Given the description of an element on the screen output the (x, y) to click on. 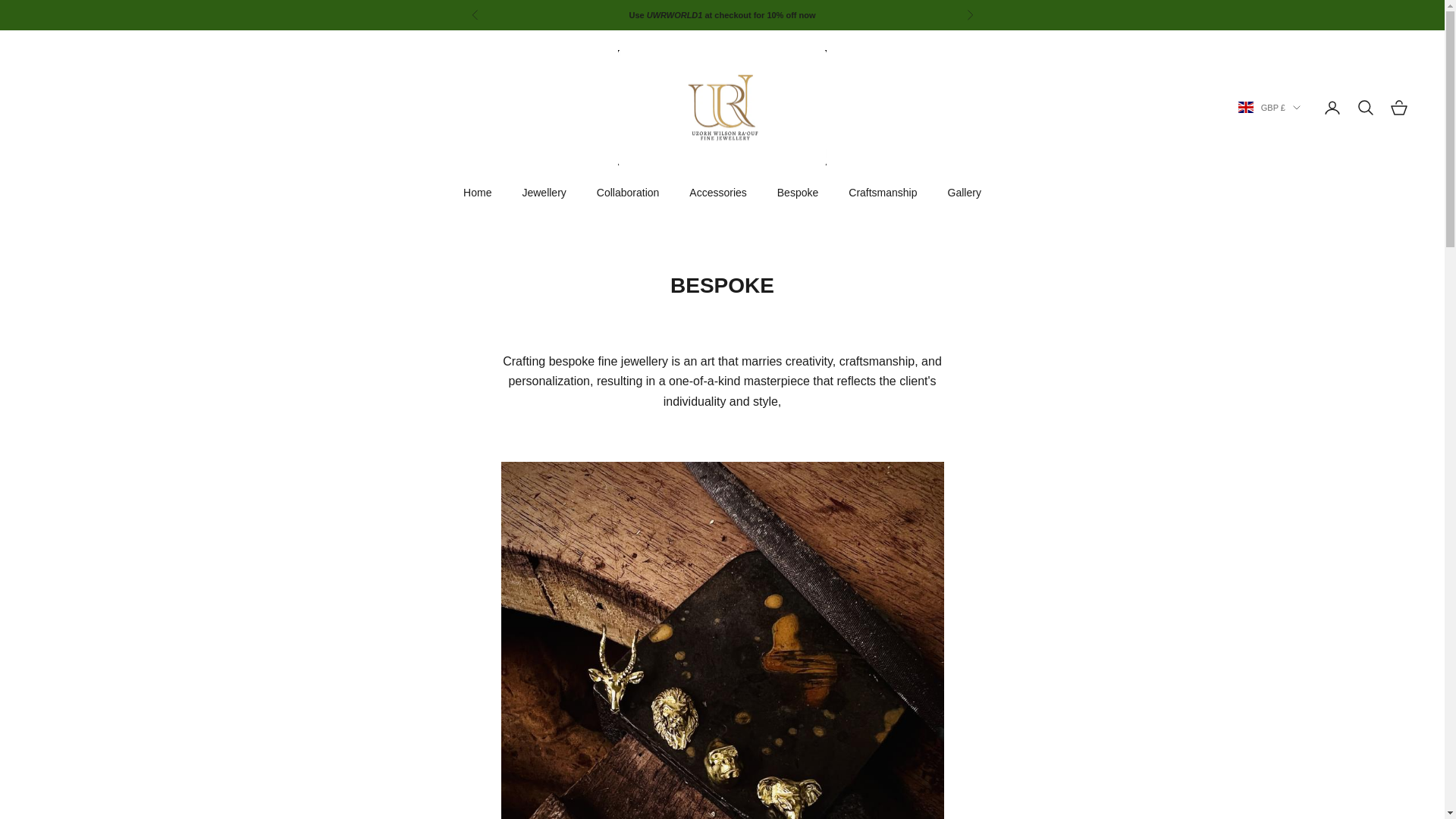
Craftsmanship (882, 193)
UWRJEWELLERY (722, 107)
Bespoke (797, 193)
